Given the description of an element on the screen output the (x, y) to click on. 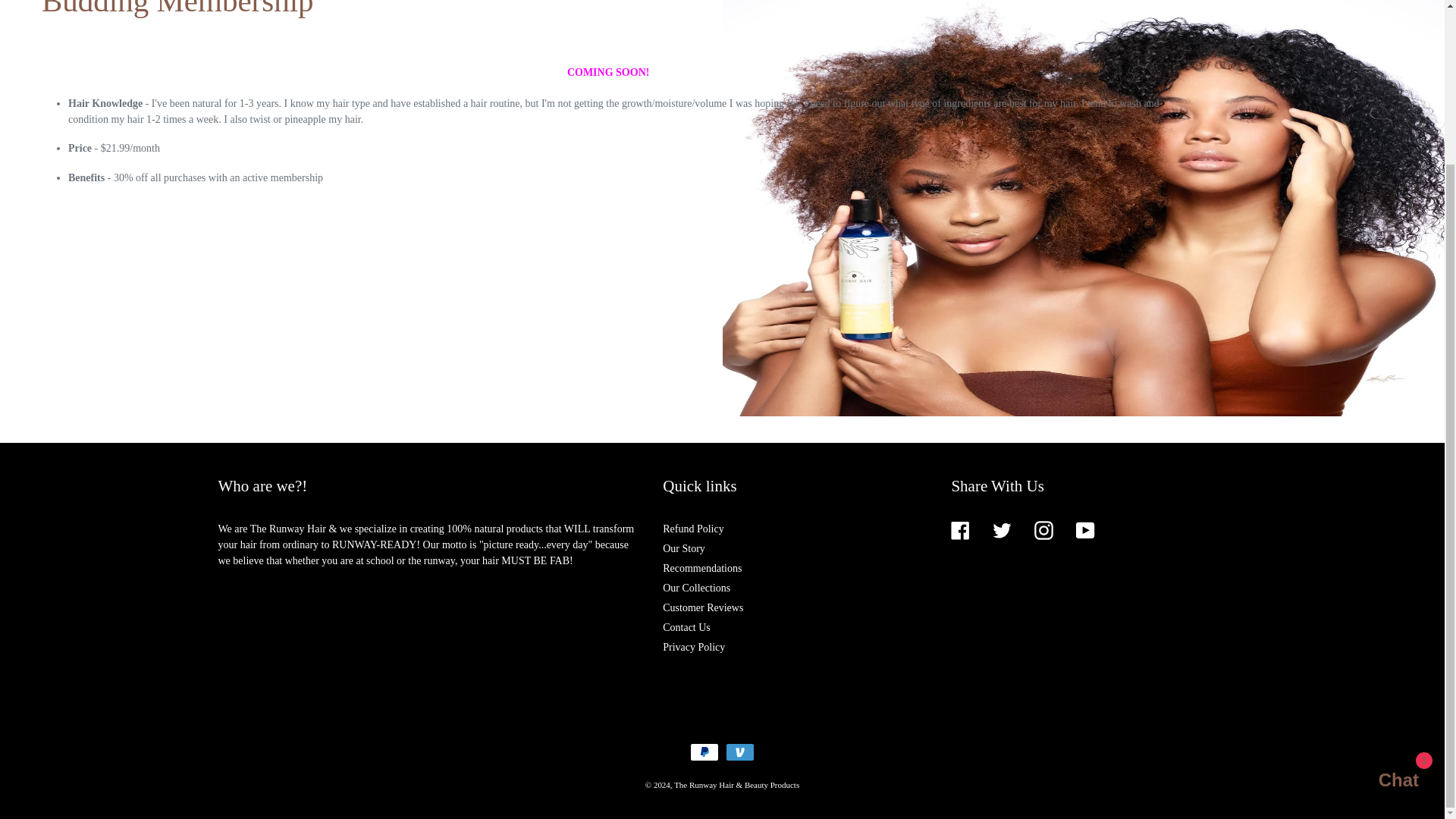
Chat de la tienda online Shopify (1383, 586)
